Given the description of an element on the screen output the (x, y) to click on. 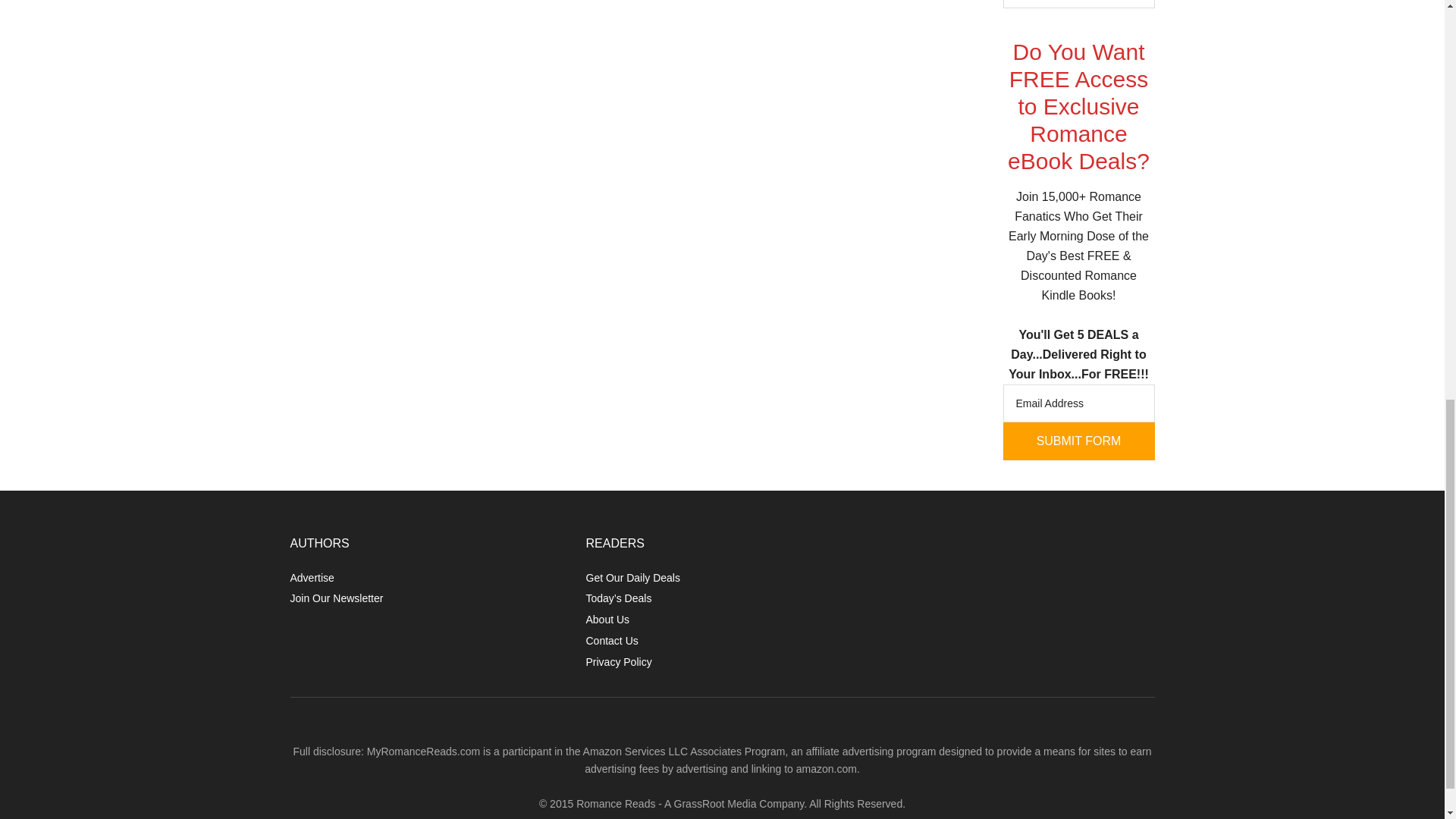
Contact Us (611, 640)
About Us (606, 619)
Advertise (311, 577)
SUBMIT FORM (1078, 441)
Join Our Newsletter (335, 598)
Get Our Daily Deals (632, 577)
